Given the description of an element on the screen output the (x, y) to click on. 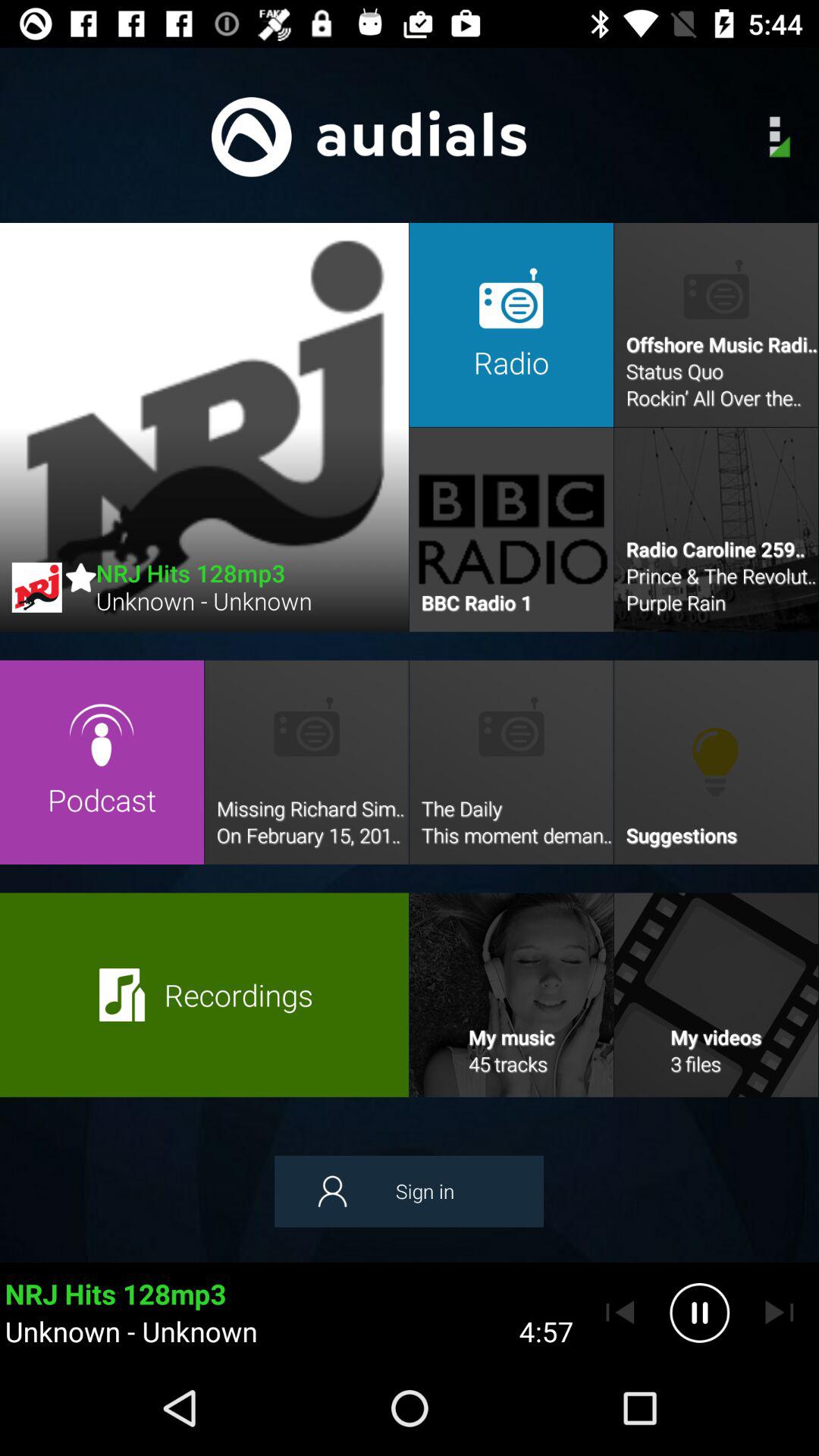
select the sign in (408, 1191)
